Given the description of an element on the screen output the (x, y) to click on. 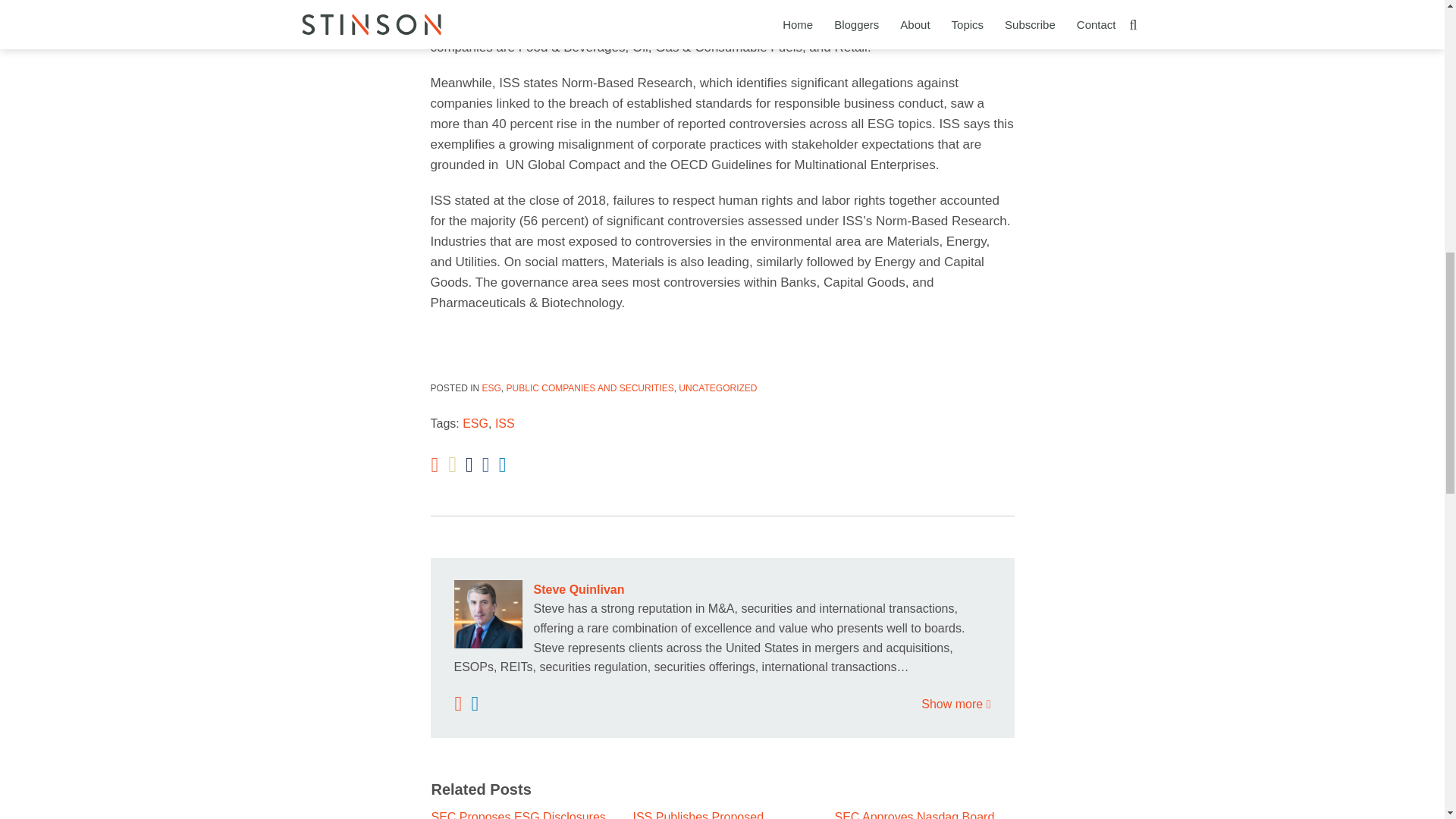
SEC Approves Nasdaq Board Diversity Rules (923, 814)
ISS Publishes Proposed Changes for 2022 for Comment (720, 814)
ESG (490, 388)
ESG (475, 422)
Steve Quinlivan (721, 589)
Show more (955, 703)
UNCATEGORIZED (717, 388)
PUBLIC COMPANIES AND SECURITIES (590, 388)
ISS (505, 422)
